Given the description of an element on the screen output the (x, y) to click on. 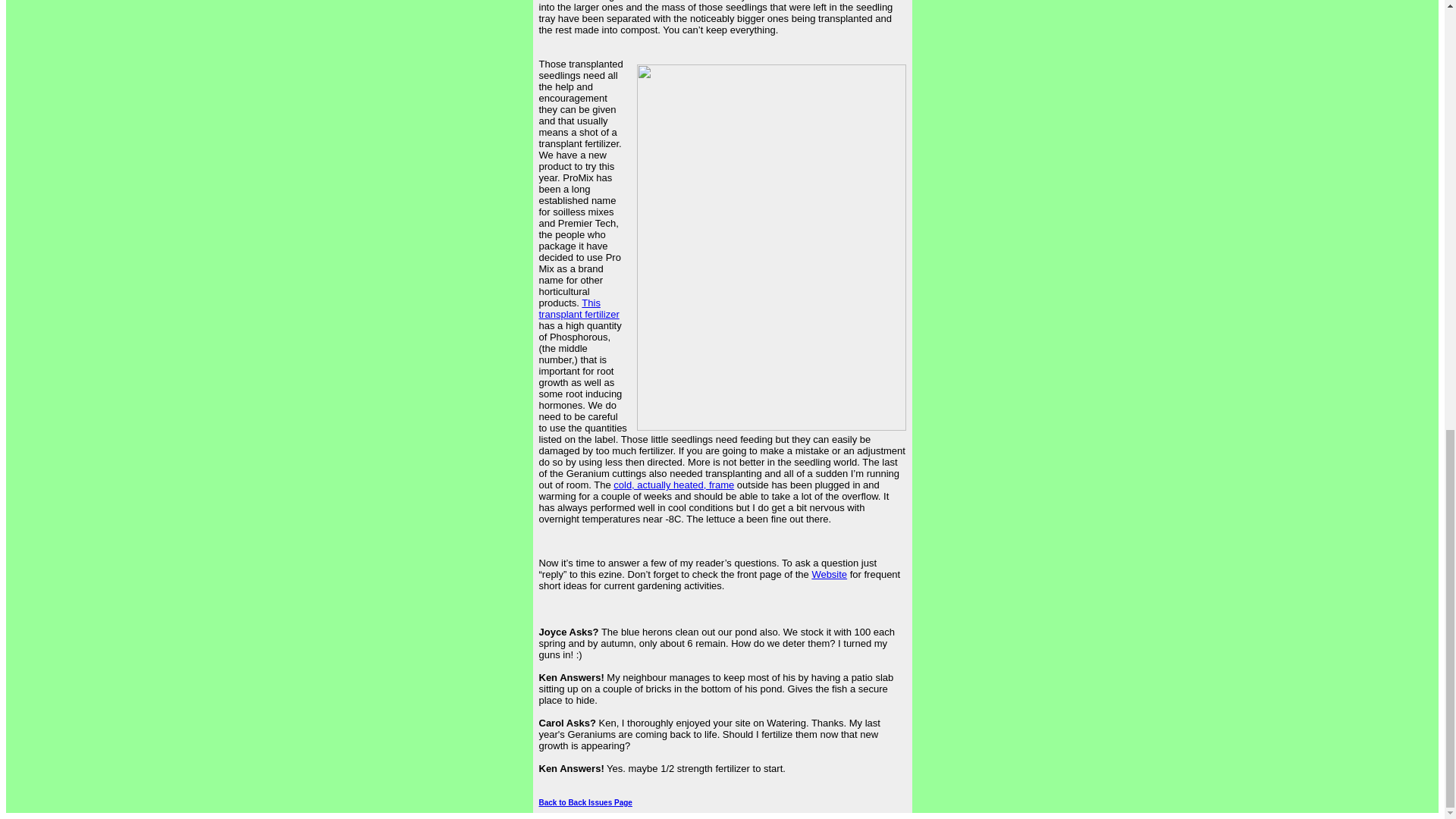
This transplant fertilizer (578, 308)
Website (828, 573)
Back to Back Issues Page (584, 802)
cold, actually heated, frame (672, 484)
